Given the description of an element on the screen output the (x, y) to click on. 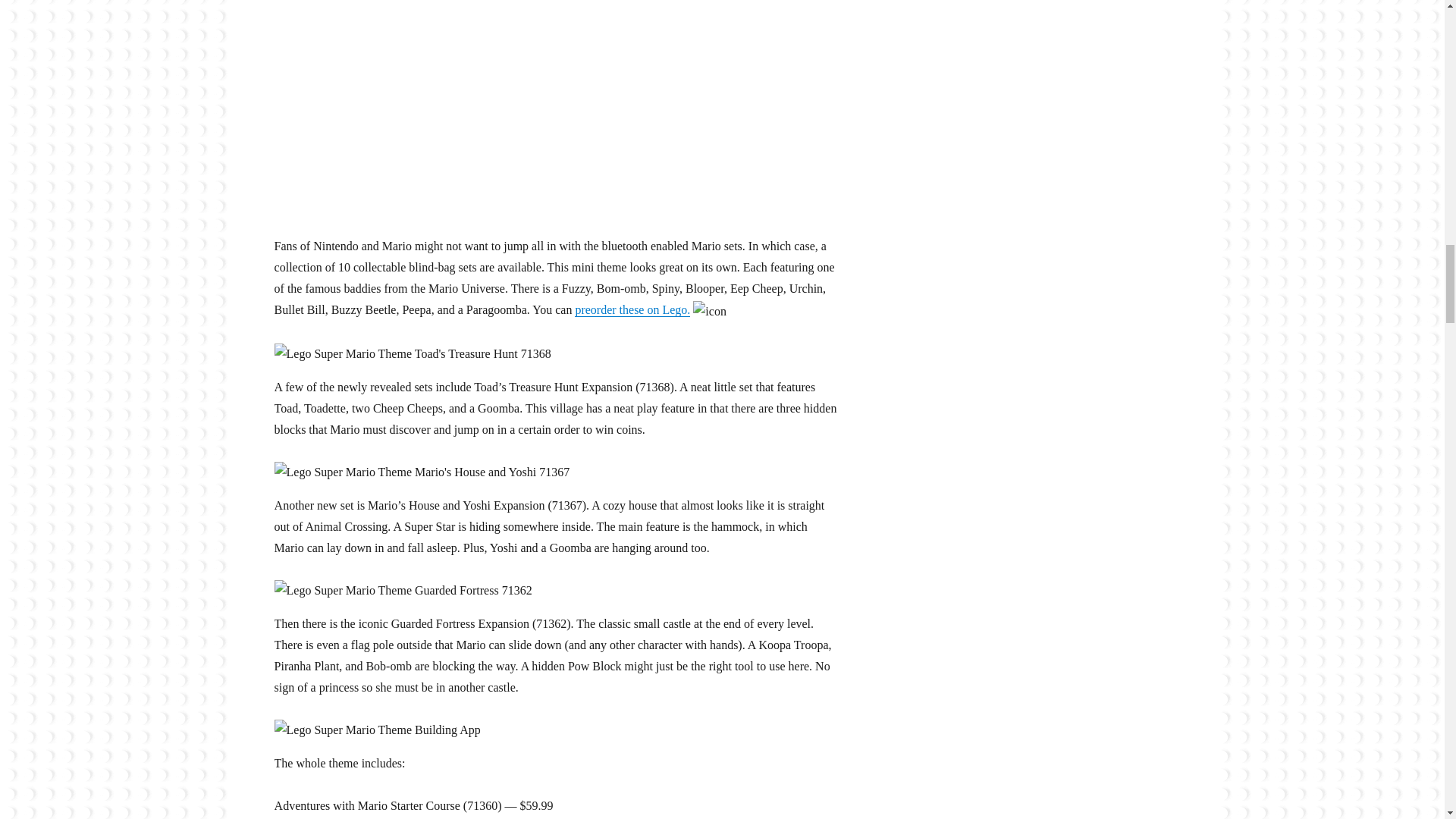
preorder these on Lego. (632, 309)
